Given the description of an element on the screen output the (x, y) to click on. 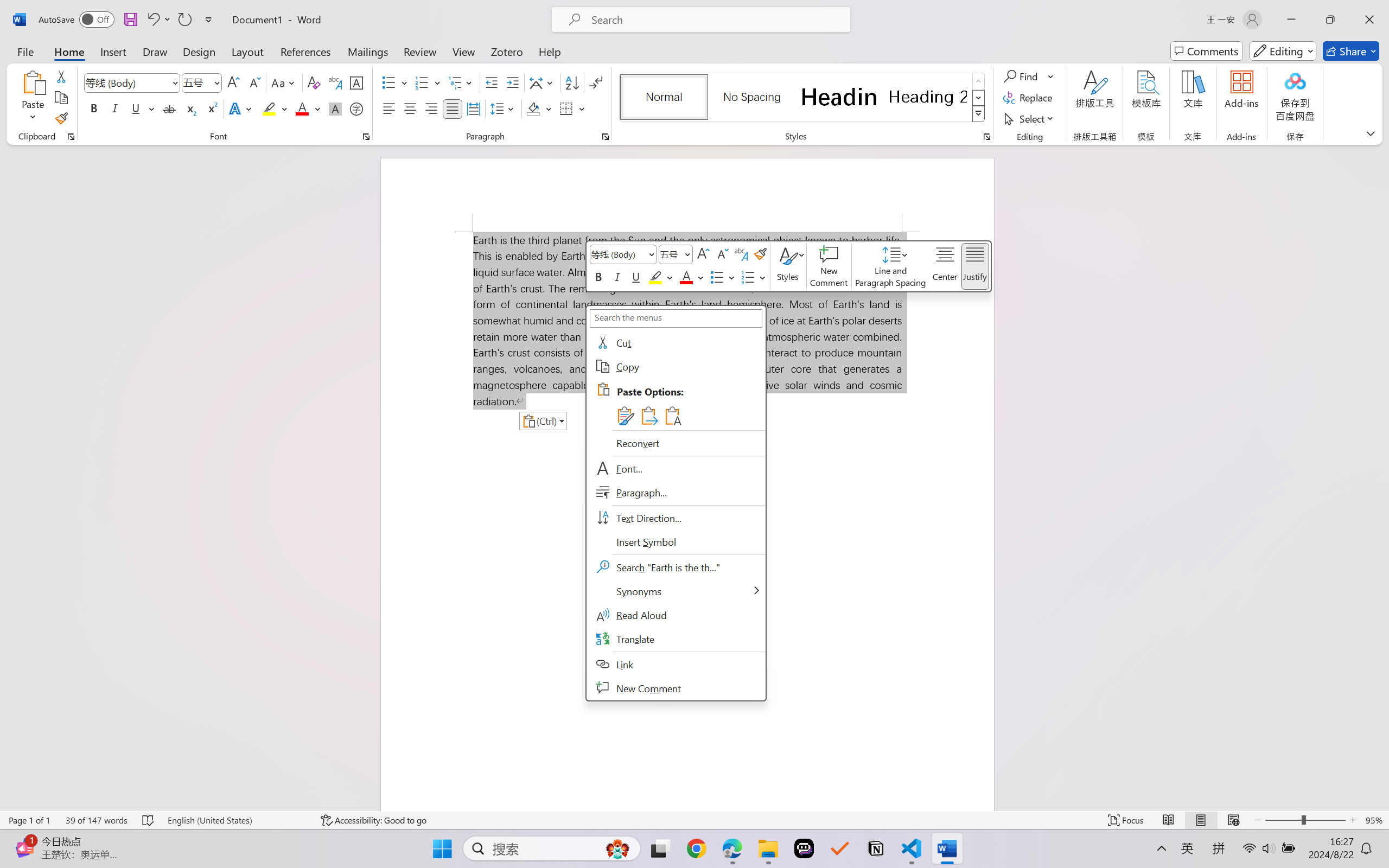
Align Left (388, 108)
Synonyms (675, 591)
Phonetic Guide... (334, 82)
Decrease Indent (491, 82)
Merge Formatting (647, 415)
Class: NetUIAnchor (890, 266)
Font... (365, 136)
Character Border (356, 82)
Class: MsoCommandBar (694, 819)
Undo Paste Text Only (152, 19)
Justify (452, 108)
